Given the description of an element on the screen output the (x, y) to click on. 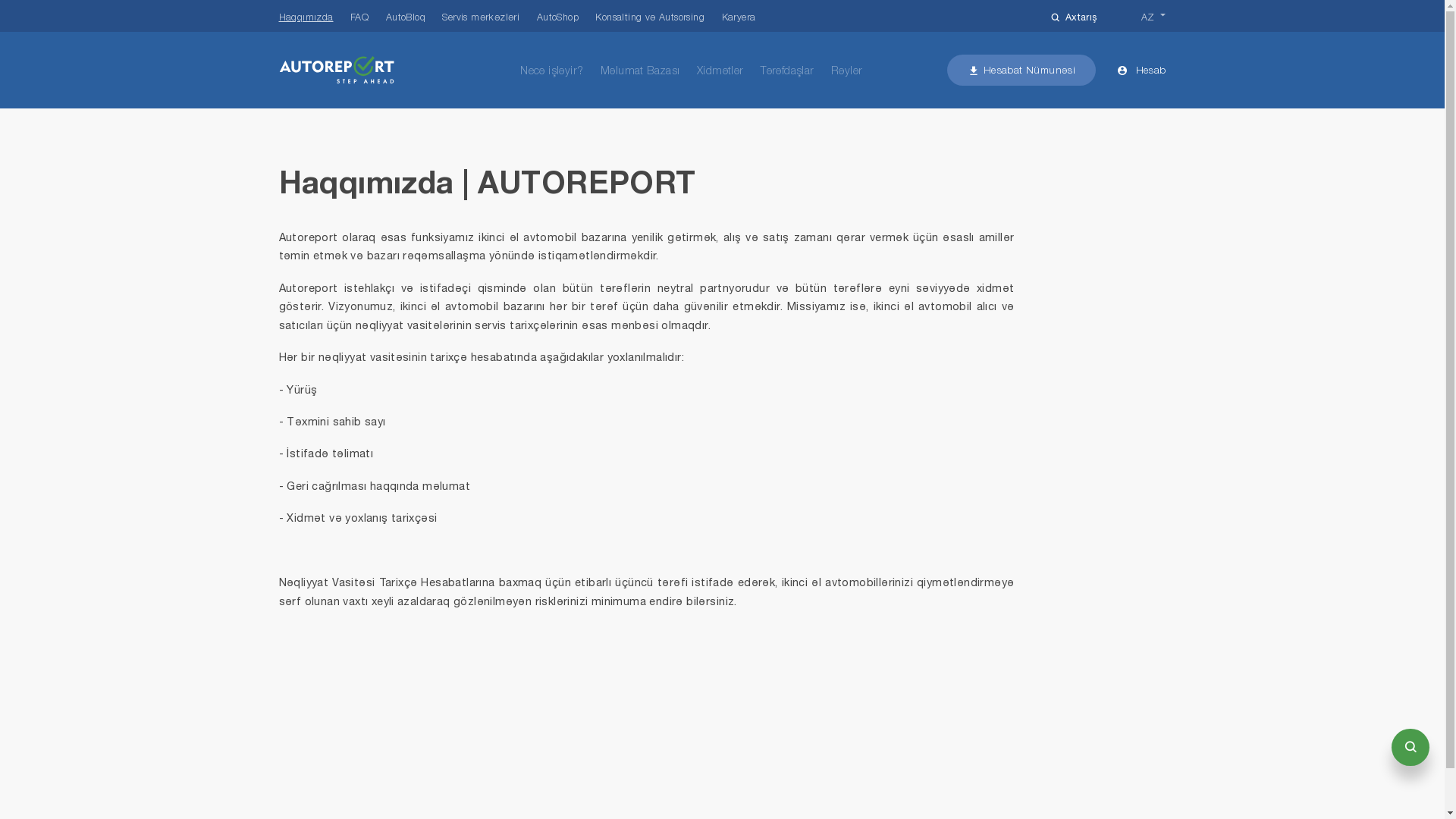
Hesab Element type: text (1140, 70)
AutoShop Element type: text (557, 16)
AZ Element type: text (1153, 16)
FAQ Element type: text (359, 16)
AutoBloq Element type: text (405, 16)
Karyera Element type: text (738, 16)
